Given the description of an element on the screen output the (x, y) to click on. 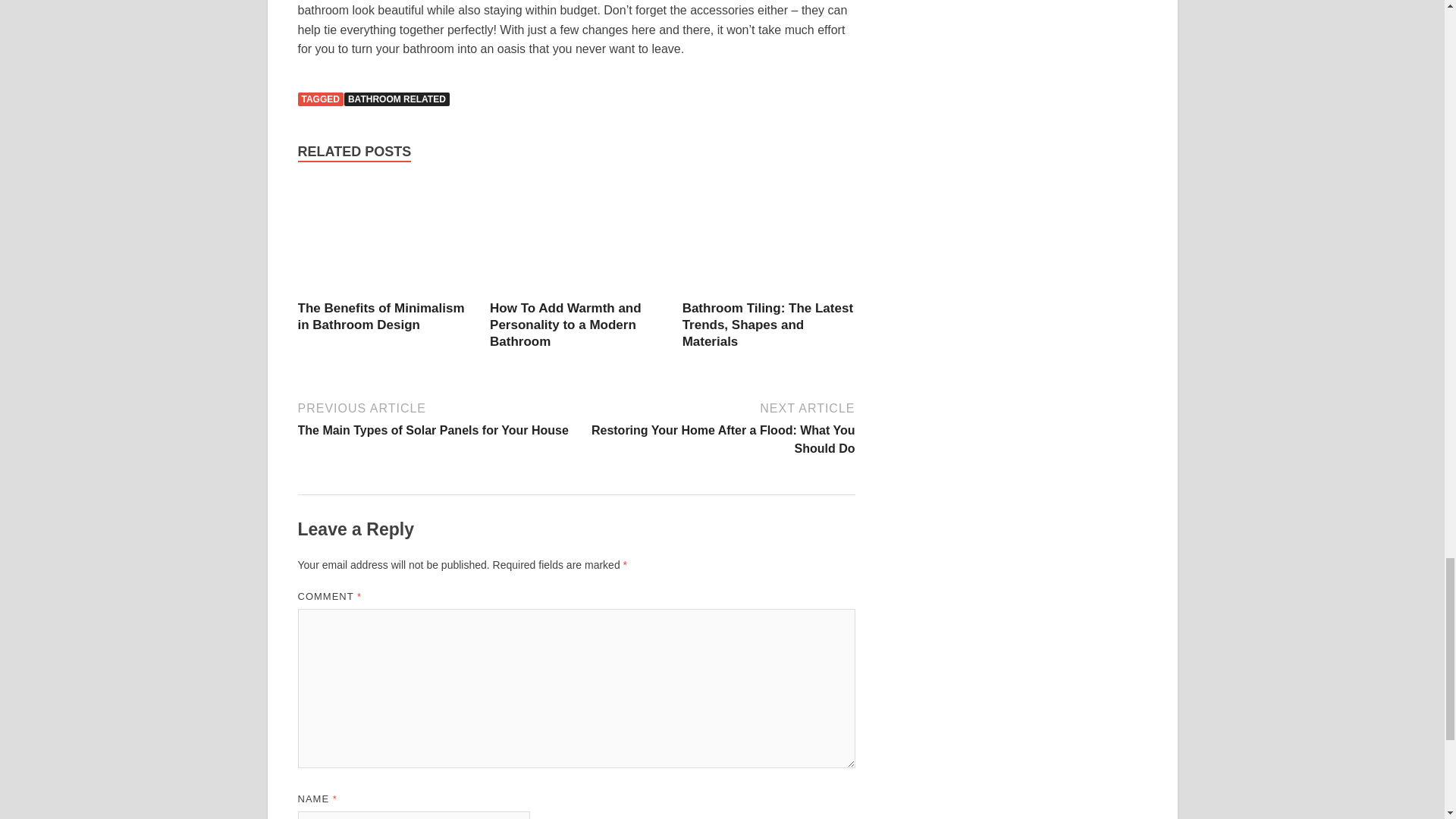
The Benefits of Minimalism in Bathroom Design (380, 316)
Bathroom Tiling: The Latest Trends, Shapes and Materials (769, 238)
How To Add Warmth and Personality to a Modern Bathroom (575, 238)
Bathroom Tiling: The Latest Trends, Shapes and Materials (767, 324)
The Benefits of Minimalism in Bathroom Design (380, 316)
BATHROOM RELATED (396, 99)
The Benefits of Minimalism in Bathroom Design (383, 238)
How To Add Warmth and Personality to a Modern Bathroom (565, 324)
